Given the description of an element on the screen output the (x, y) to click on. 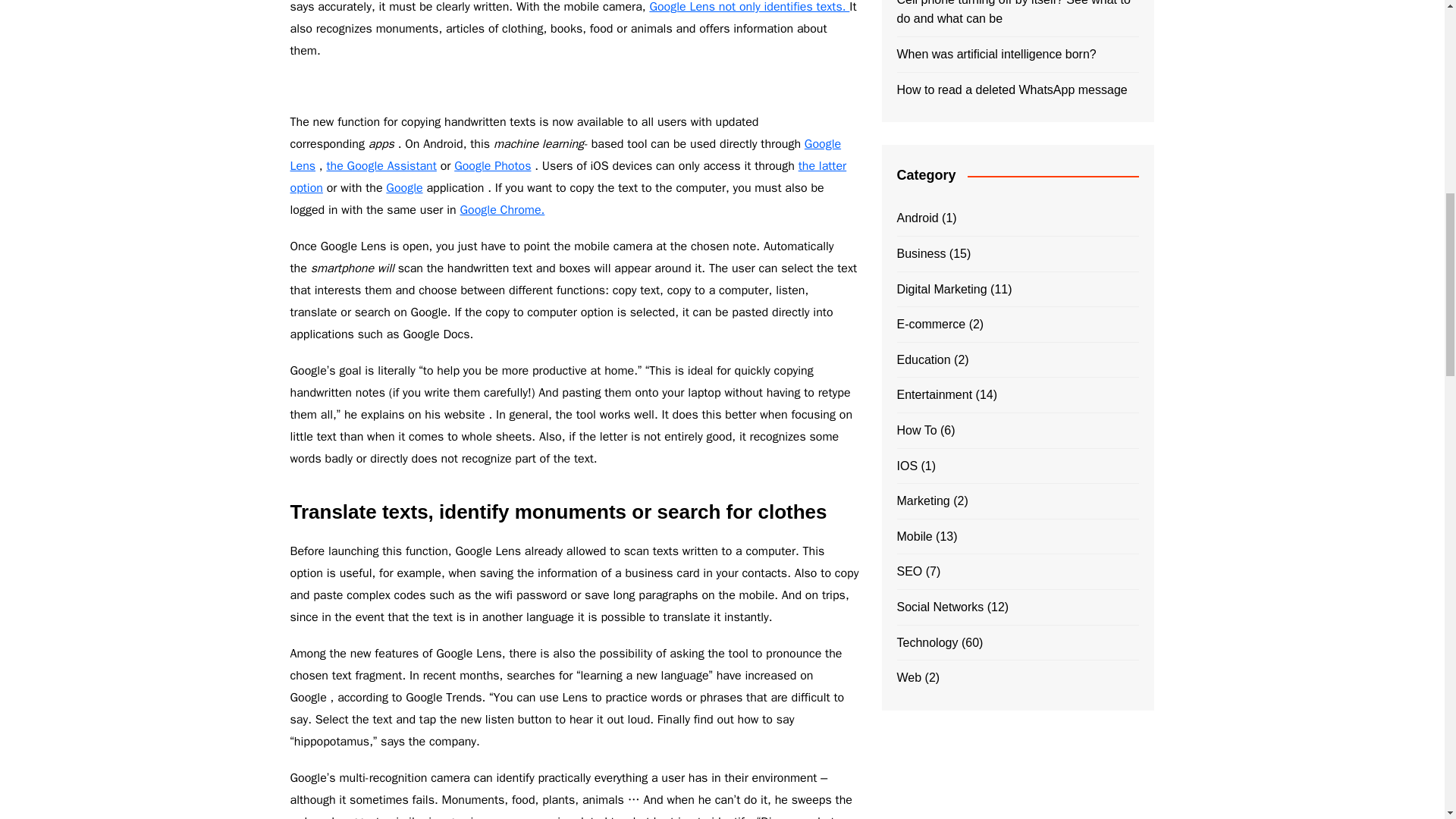
Google Chrome. (502, 209)
Google (403, 187)
the Google Assistant (380, 165)
Google Lens not only identifies texts.  (748, 7)
Google Lens (565, 154)
Google Photos (492, 165)
the latter option (567, 176)
